Given the description of an element on the screen output the (x, y) to click on. 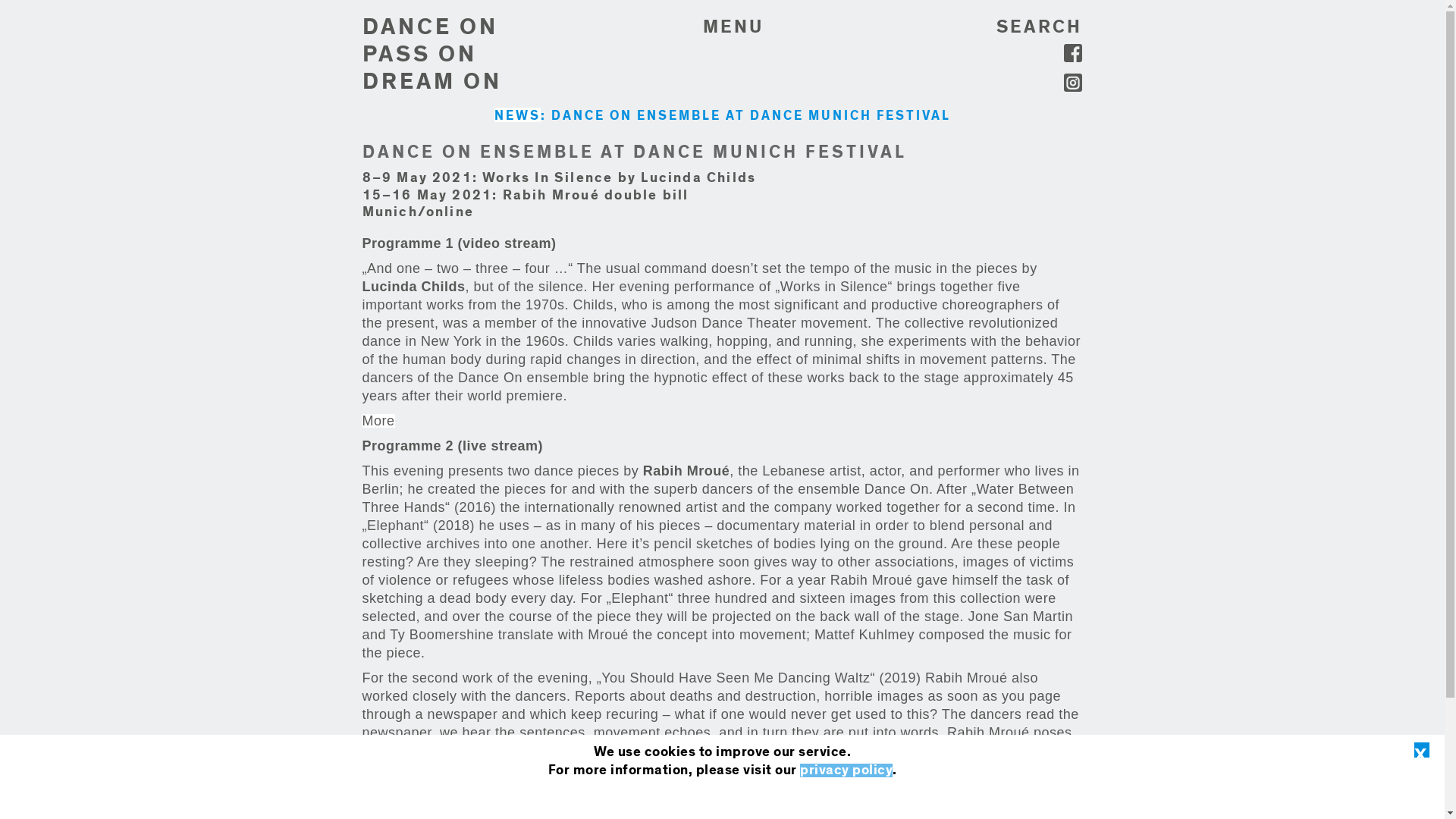
More (378, 775)
ACCEPT (720, 798)
NEWS (517, 113)
privacy policy (432, 81)
More (845, 770)
